Given the description of an element on the screen output the (x, y) to click on. 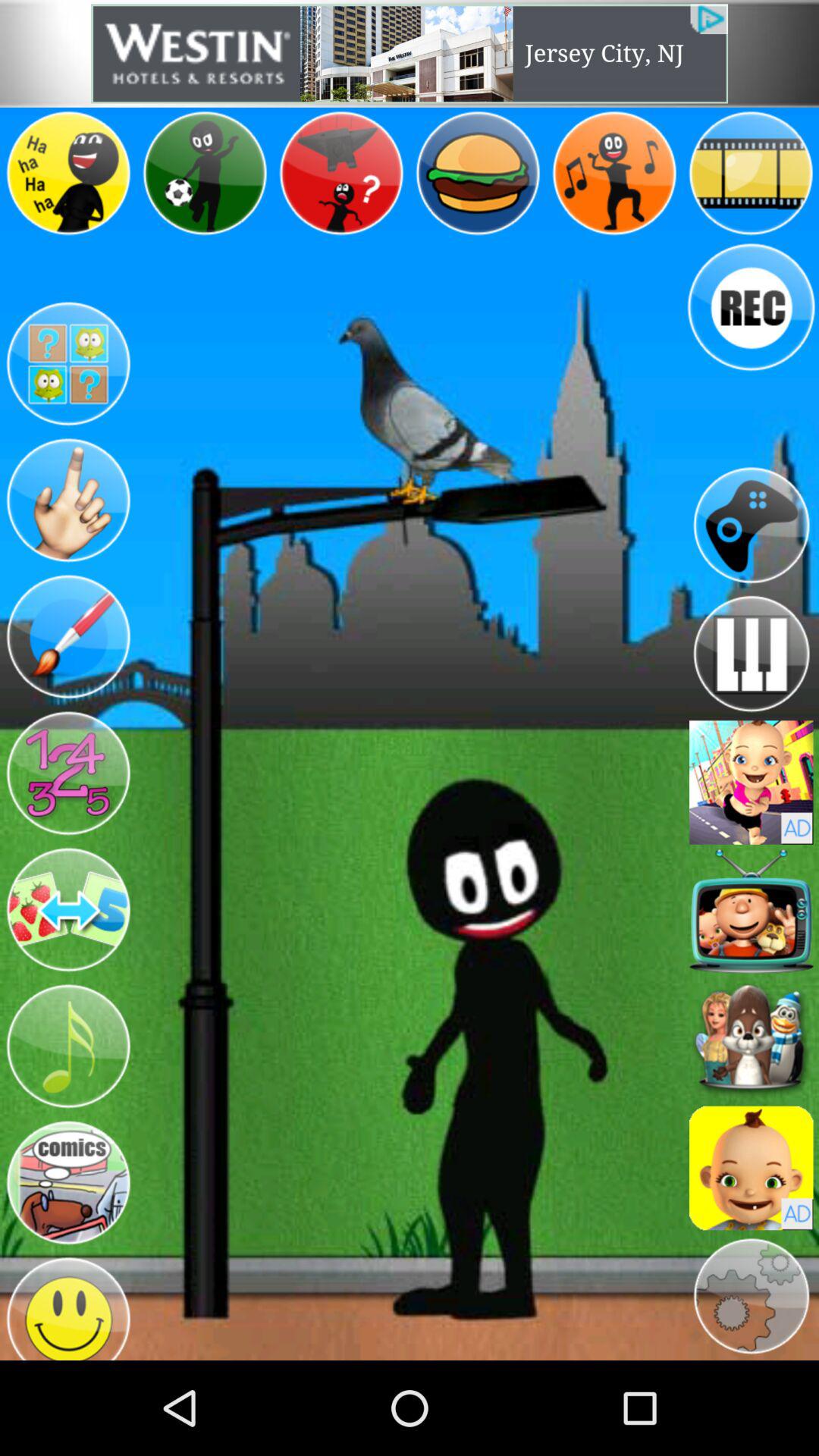
games (751, 525)
